Given the description of an element on the screen output the (x, y) to click on. 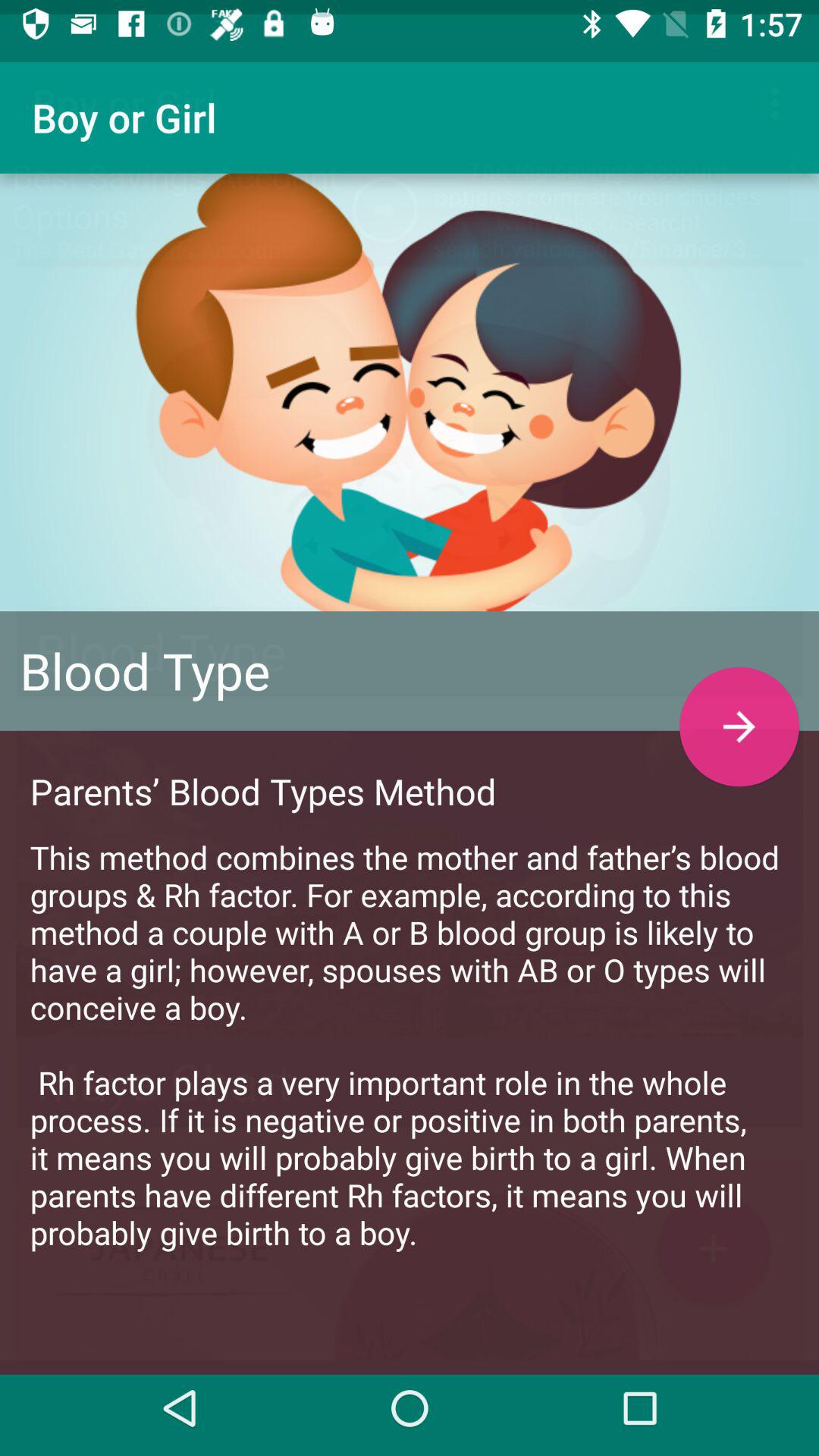
open the this method combines item (409, 1030)
